Given the description of an element on the screen output the (x, y) to click on. 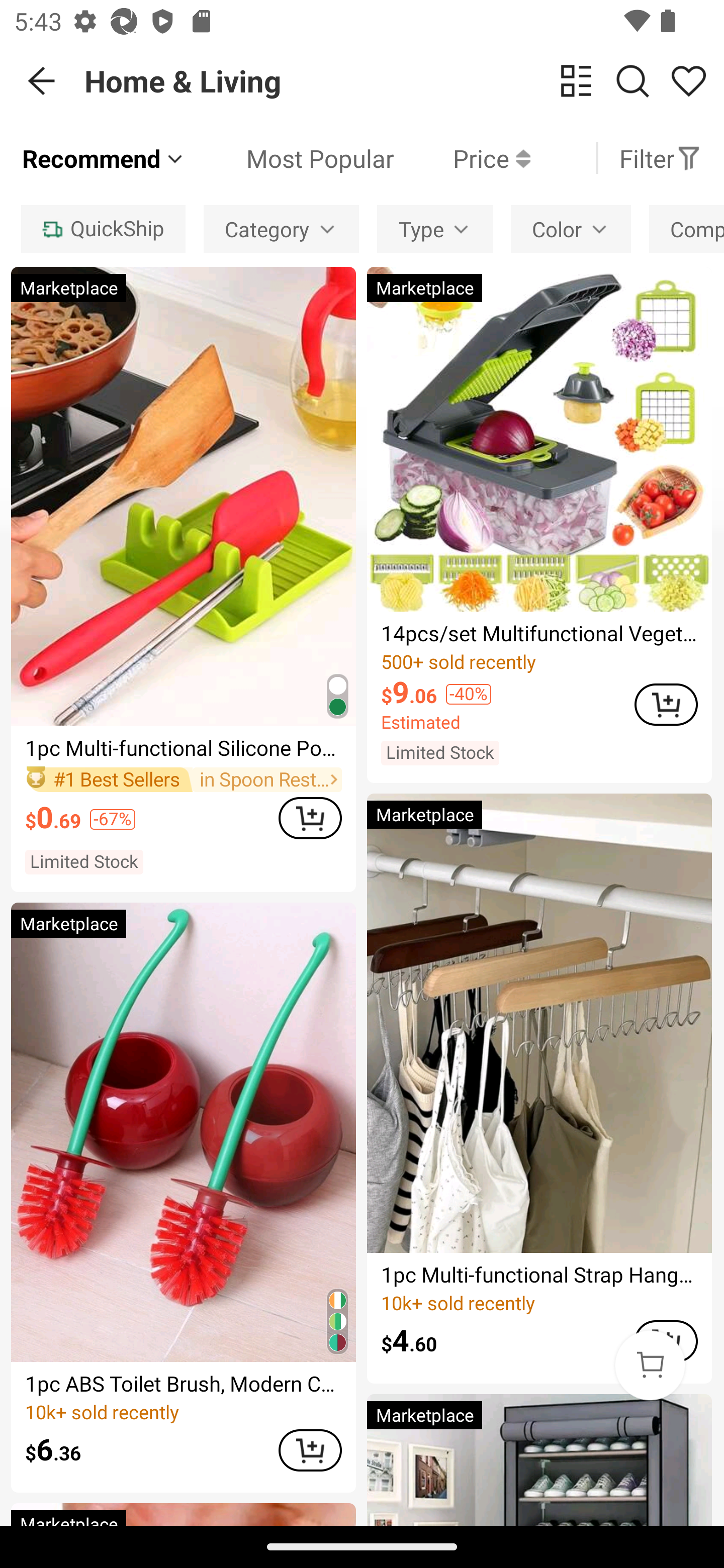
Home & Living change view Search Share (404, 80)
change view (576, 81)
Search (632, 81)
Share (688, 81)
Recommend (103, 158)
Most Popular (289, 158)
Price (461, 158)
Filter (660, 158)
QuickShip (102, 228)
Category (281, 228)
Type (435, 228)
Color (571, 228)
Composition (686, 228)
ADD TO CART (665, 704)
#1 Best Sellers in Spoon Rests & Pot Clips (183, 779)
ADD TO CART (309, 817)
ADD TO CART (309, 1450)
